Given the description of an element on the screen output the (x, y) to click on. 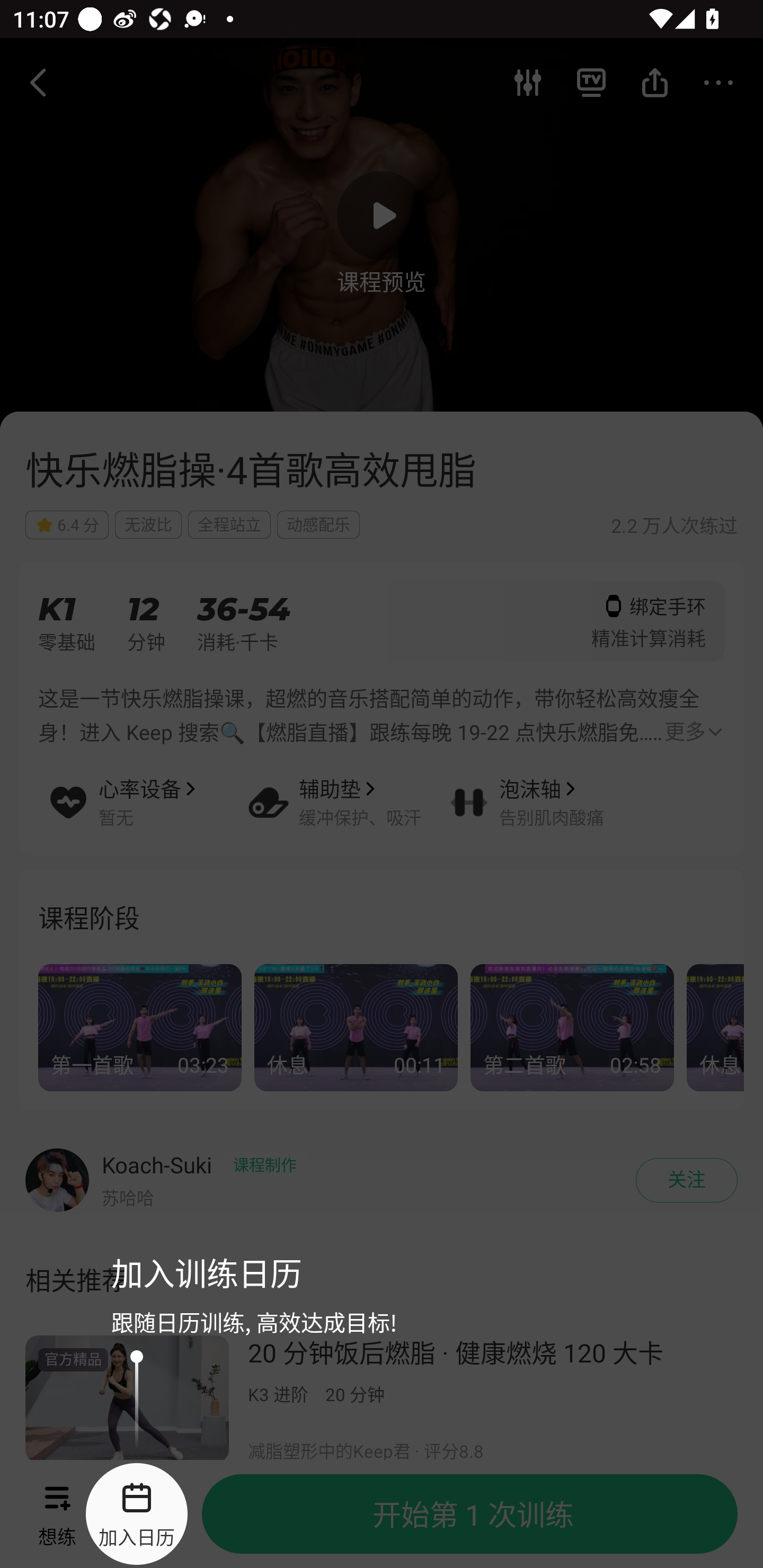
加入日历 (136, 1513)
